Given the description of an element on the screen output the (x, y) to click on. 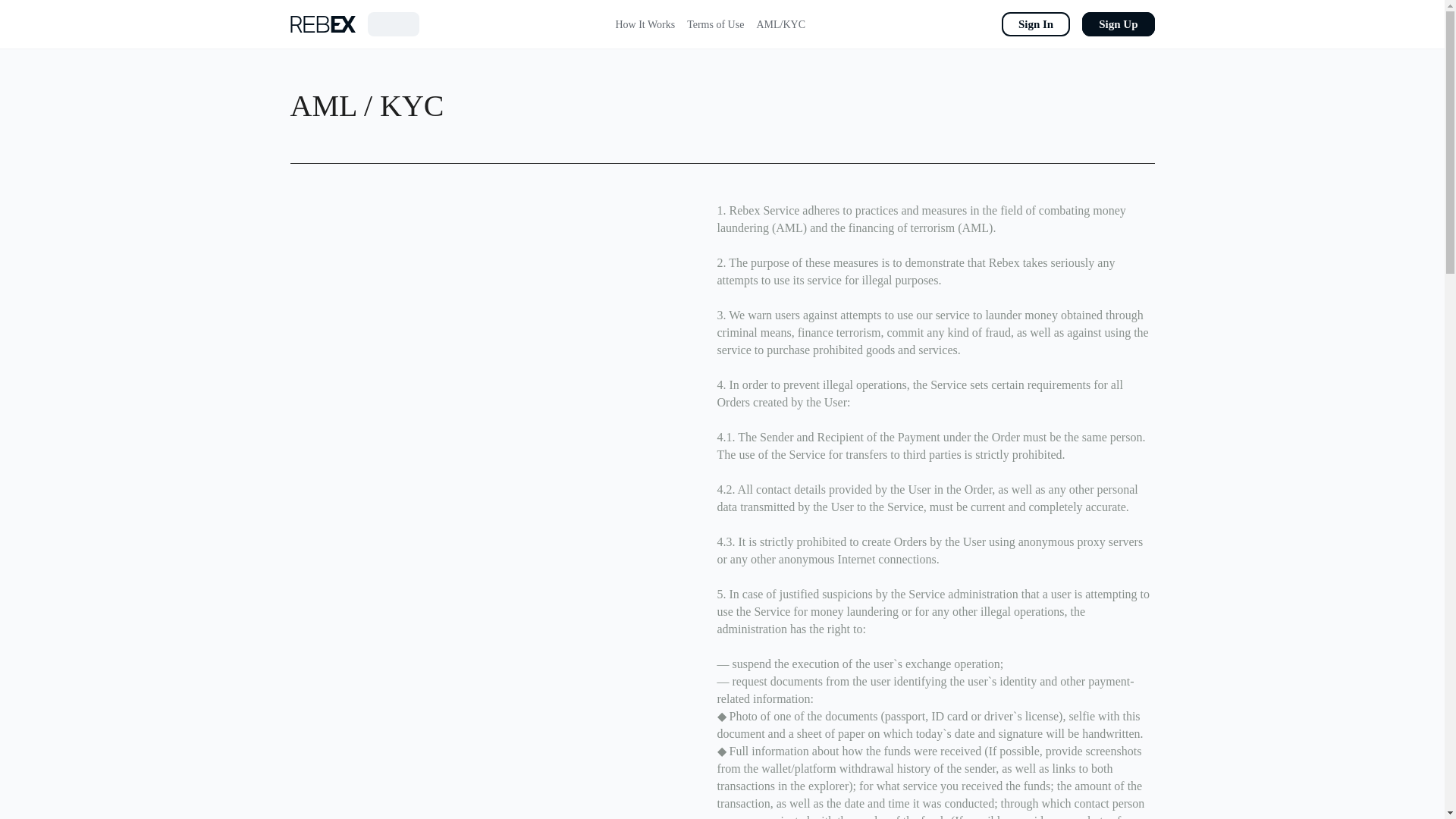
Rebex (322, 22)
How It Works (644, 24)
Sign In (1035, 24)
Terms of Use (715, 24)
Sign Up (1117, 24)
